Given the description of an element on the screen output the (x, y) to click on. 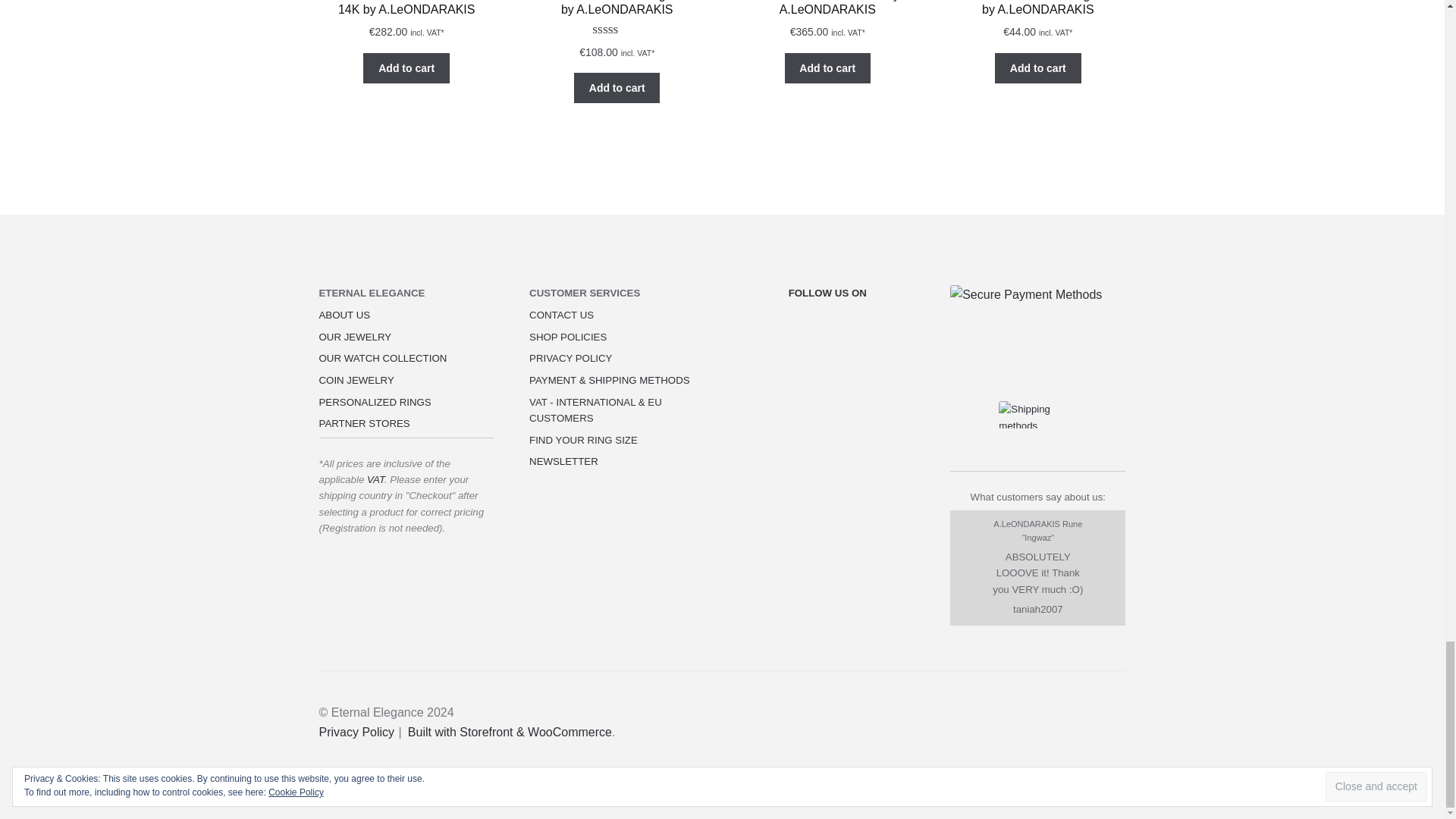
WooCommerce - The Best eCommerce Platform for WordPress (509, 731)
